Given the description of an element on the screen output the (x, y) to click on. 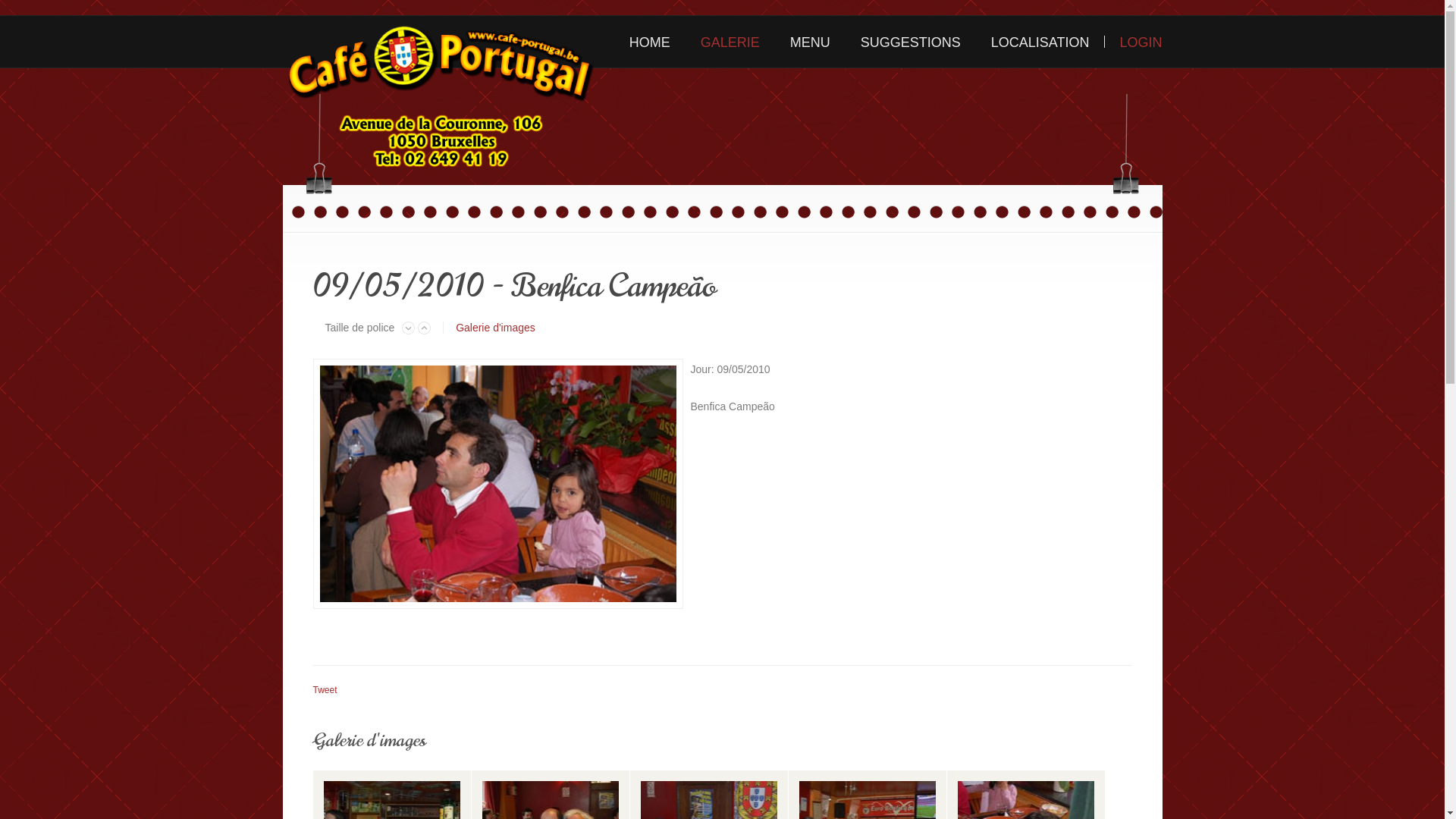
HOME Element type: text (649, 41)
Augmenter la taille de police Element type: text (423, 327)
Connexion Element type: text (510, 297)
GALERIE Element type: text (730, 41)
Galerie d'images Element type: text (495, 327)
LOCALISATION Element type: text (1039, 41)
MENU Element type: text (810, 41)
SUGGESTIONS Element type: text (910, 41)
LOGIN Element type: text (1132, 41)
Tweet Element type: text (324, 689)
